Given the description of an element on the screen output the (x, y) to click on. 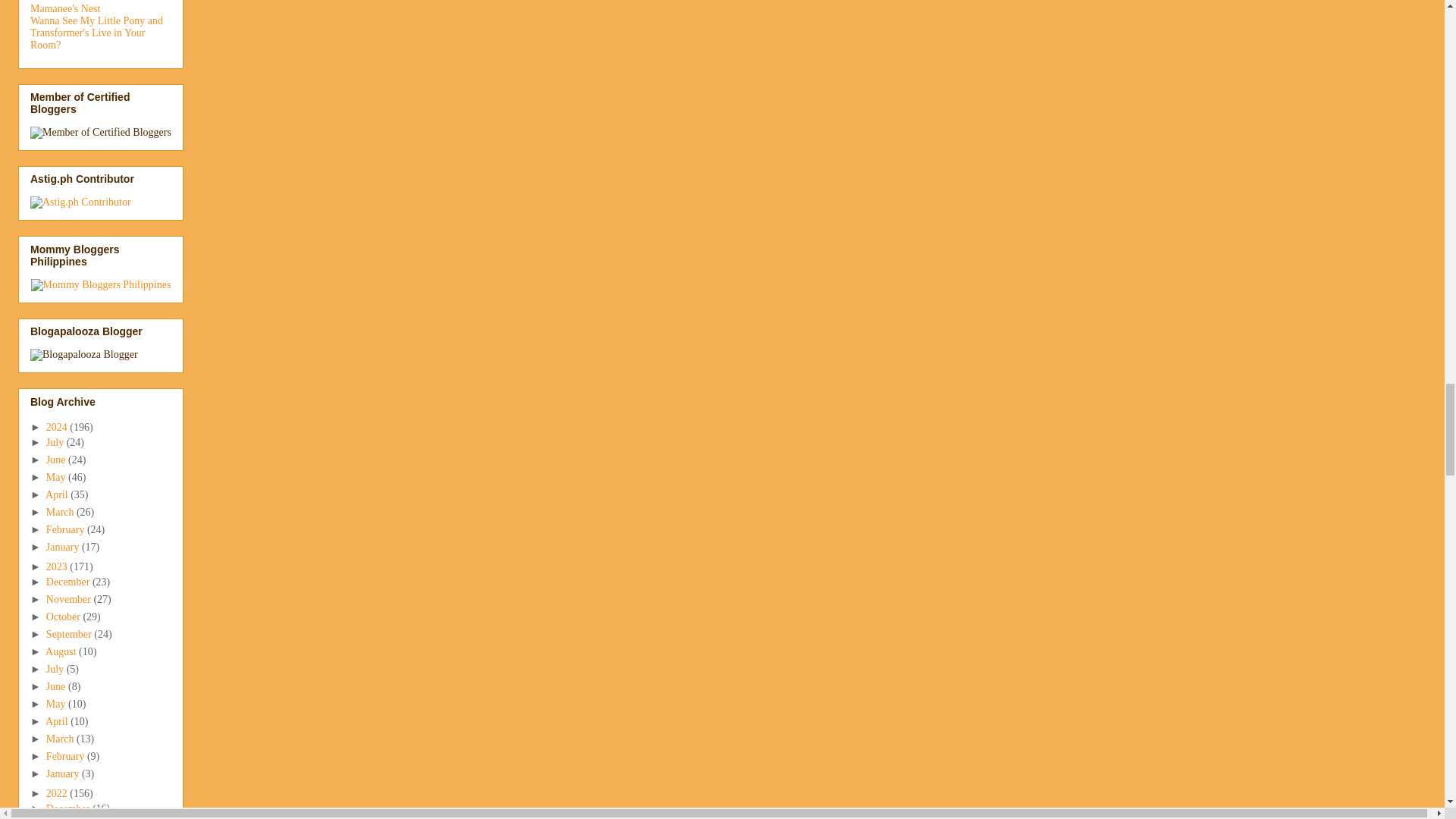
Mommy Bloggers Philippines (100, 284)
Mamanee's Nest (65, 8)
